Given the description of an element on the screen output the (x, y) to click on. 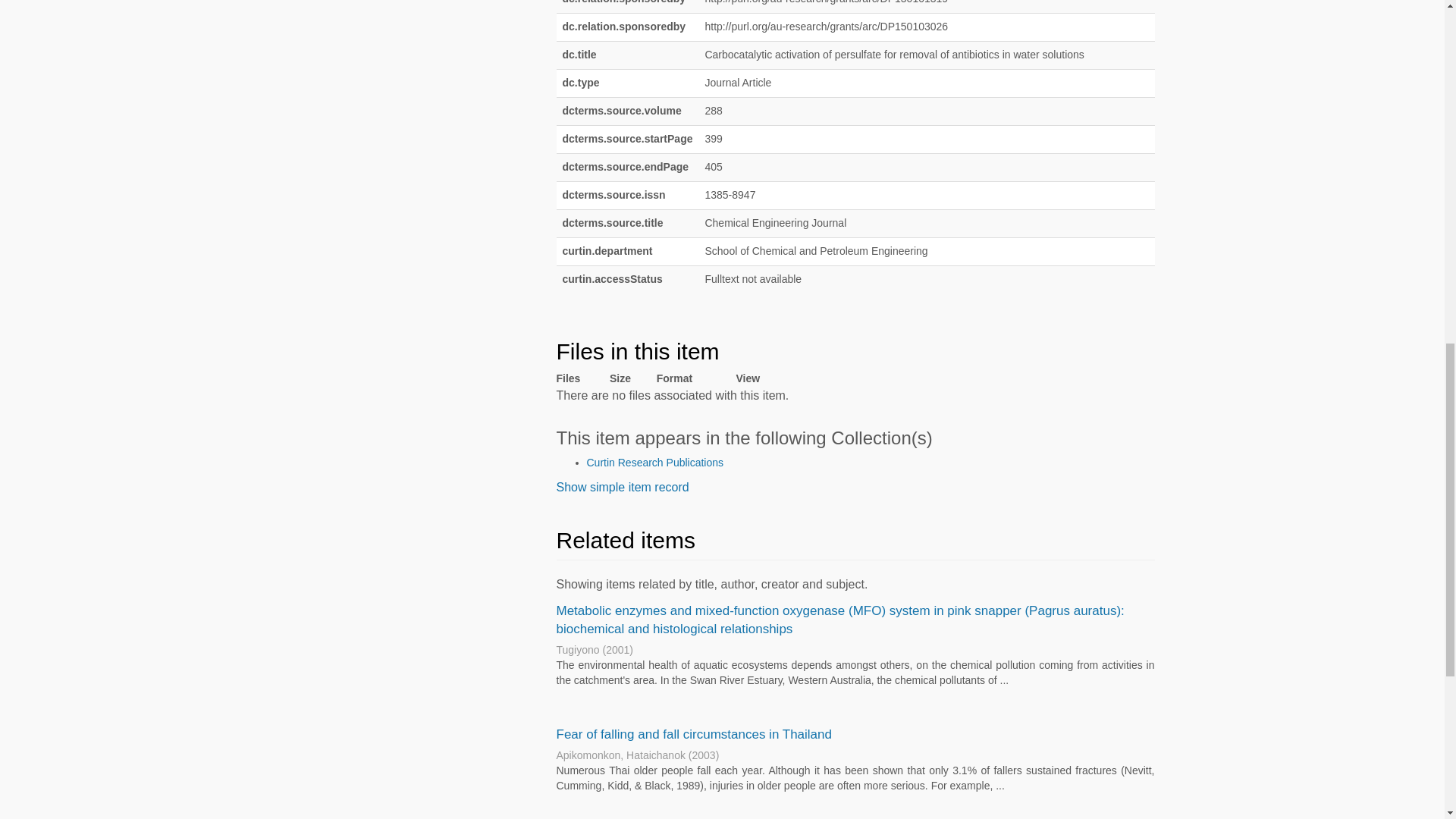
Show simple item record (622, 486)
Curtin Research Publications (654, 462)
Fear of falling and fall circumstances in Thailand (693, 734)
